Given the description of an element on the screen output the (x, y) to click on. 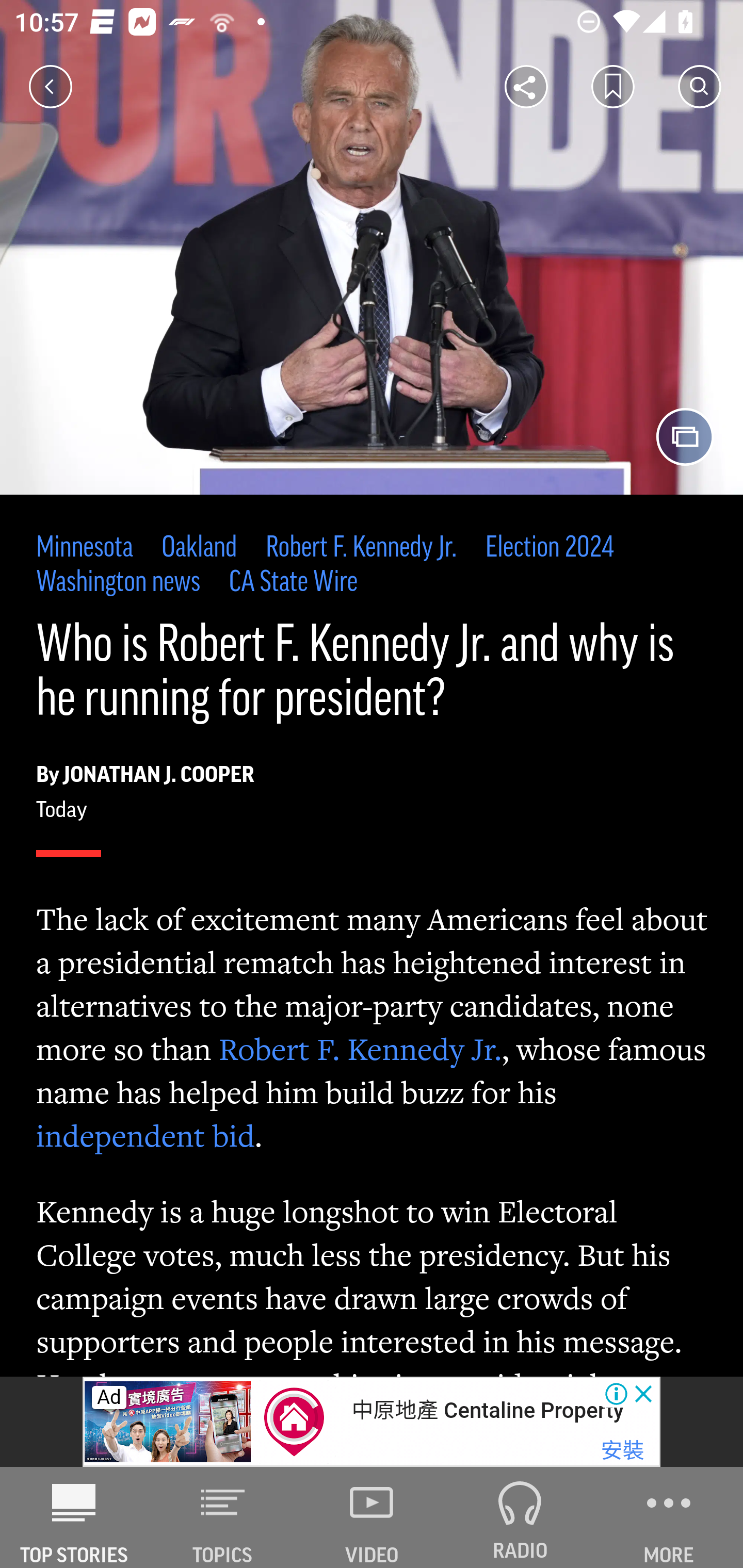
Minnesota (84, 548)
Oakland (199, 548)
Robert F. Kennedy Jr. (361, 548)
Election 2024 (548, 548)
Washington news (119, 582)
CA State Wire (292, 582)
Robert F. Kennedy Jr. (359, 1048)
independent bid (146, 1135)
中原地產 Centaline Property (486, 1410)
安裝 (621, 1450)
AP News TOP STORIES (74, 1517)
TOPICS (222, 1517)
VIDEO (371, 1517)
RADIO (519, 1517)
MORE (668, 1517)
